Given the description of an element on the screen output the (x, y) to click on. 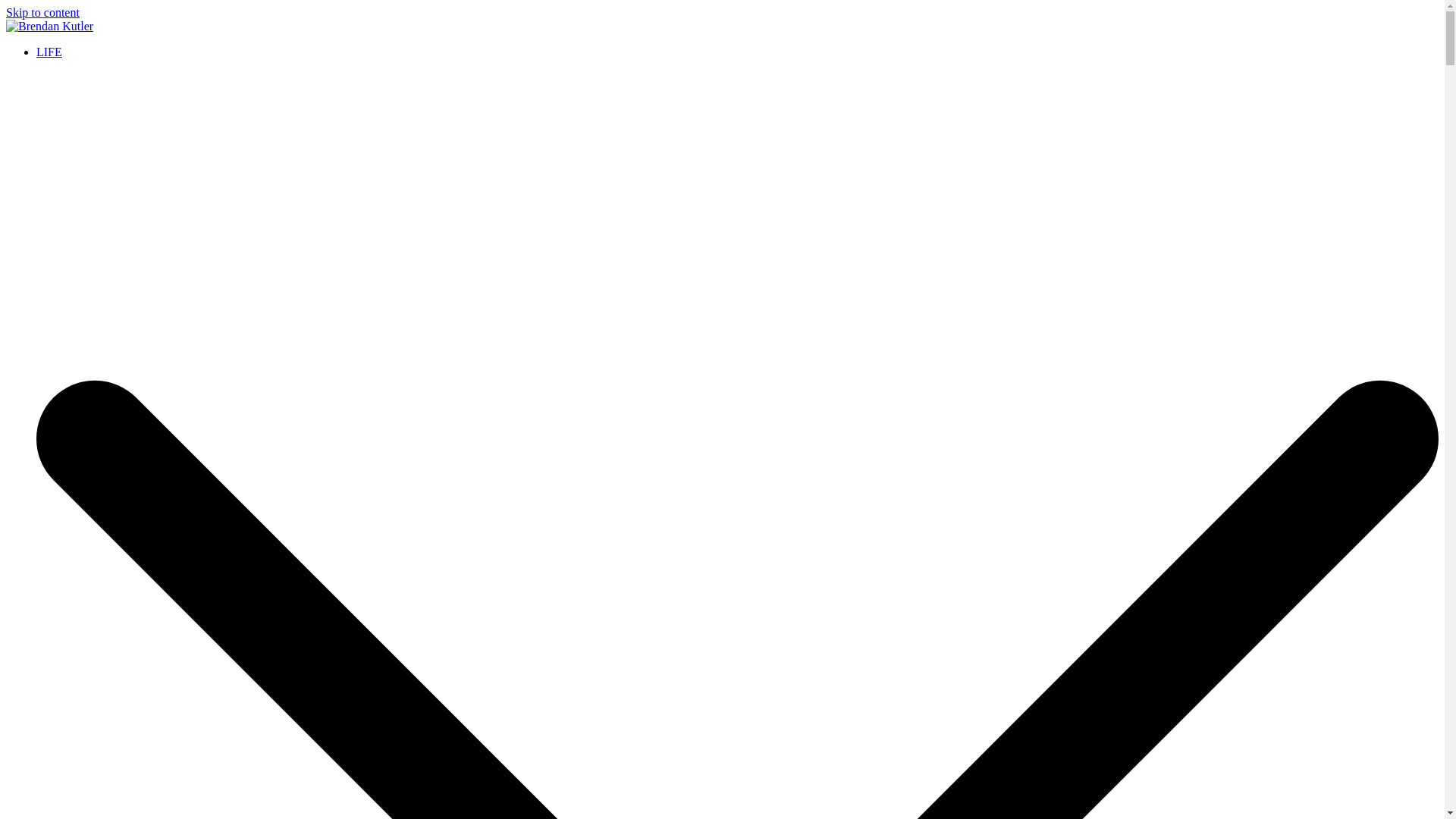
Skip to content (42, 11)
LIFE (49, 51)
Brendan Kutler (43, 51)
